Given the description of an element on the screen output the (x, y) to click on. 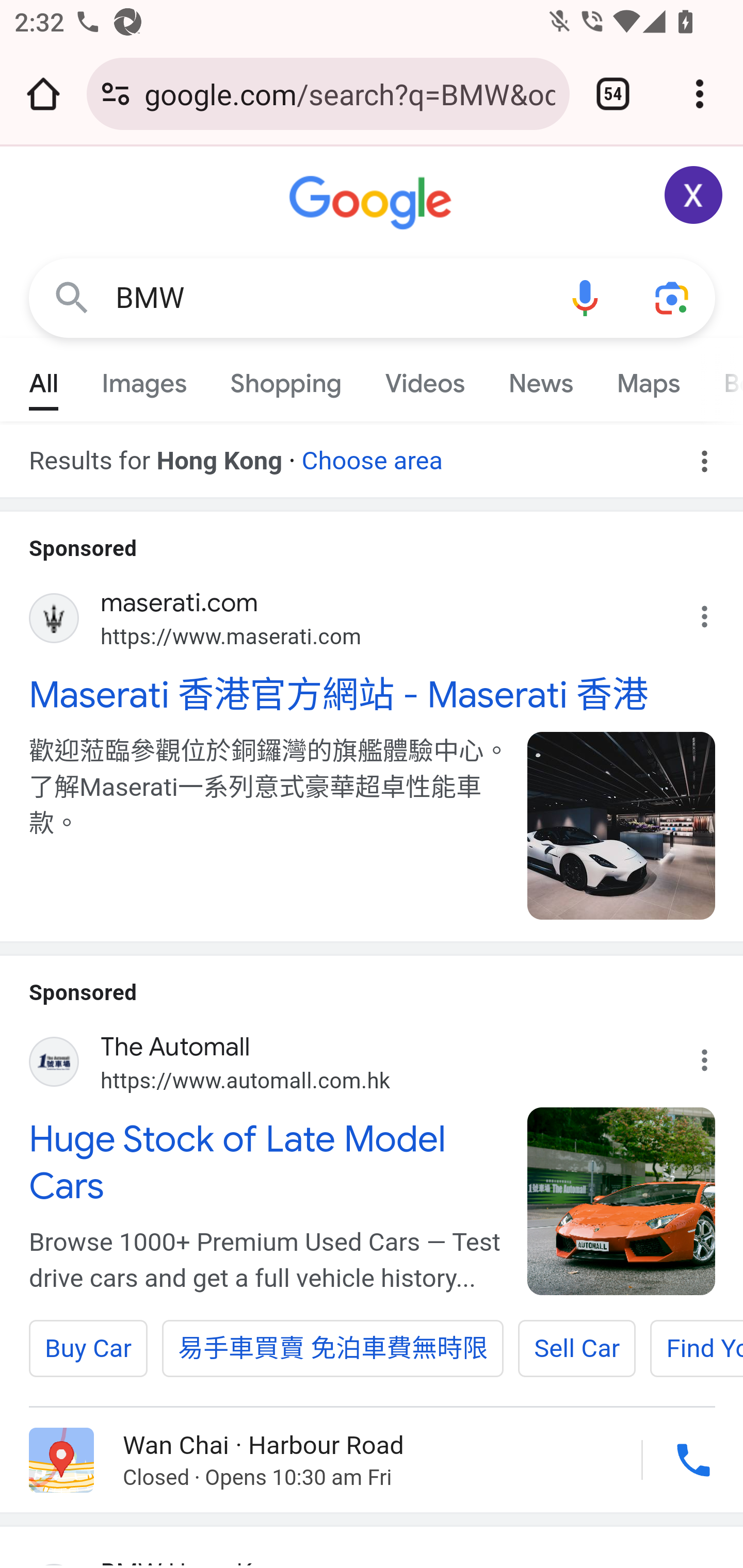
Open the home page (43, 93)
Connection is secure (115, 93)
Switch or close tabs (612, 93)
Customize and control Google Chrome (699, 93)
Google (372, 203)
Google Account: Xiaoran (zxrappiumtest@gmail.com) (694, 195)
Google Search (71, 296)
Search using your camera or photos (672, 296)
BMW (328, 297)
Images (144, 378)
Shopping (285, 378)
Videos (424, 378)
News (540, 378)
Maps (647, 378)
Choose area (371, 453)
Why this ad? (714, 611)
Maserati 香港官方網站 - Maserati 香港 (372, 694)
Image from maserati.com (621, 825)
Why this ad? (714, 1055)
Image from automall.com.hk (621, 1201)
Huge Stock of Late Model Cars (266, 1161)
Buy Car (87, 1348)
易手車買賣 免泊車費無時限 (332, 1348)
Sell Car (576, 1348)
Find Your Next Car (696, 1348)
